Given the description of an element on the screen output the (x, y) to click on. 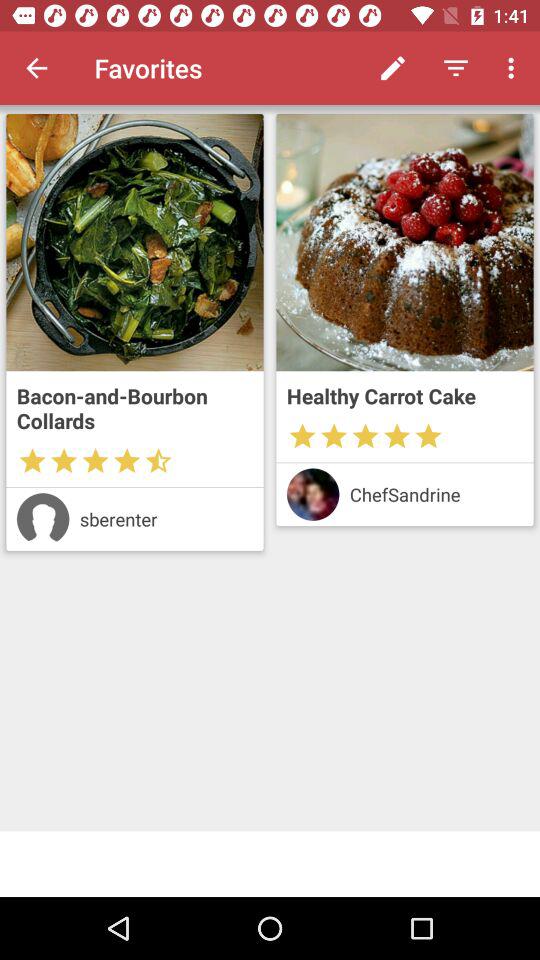
go to recipe (134, 242)
